Given the description of an element on the screen output the (x, y) to click on. 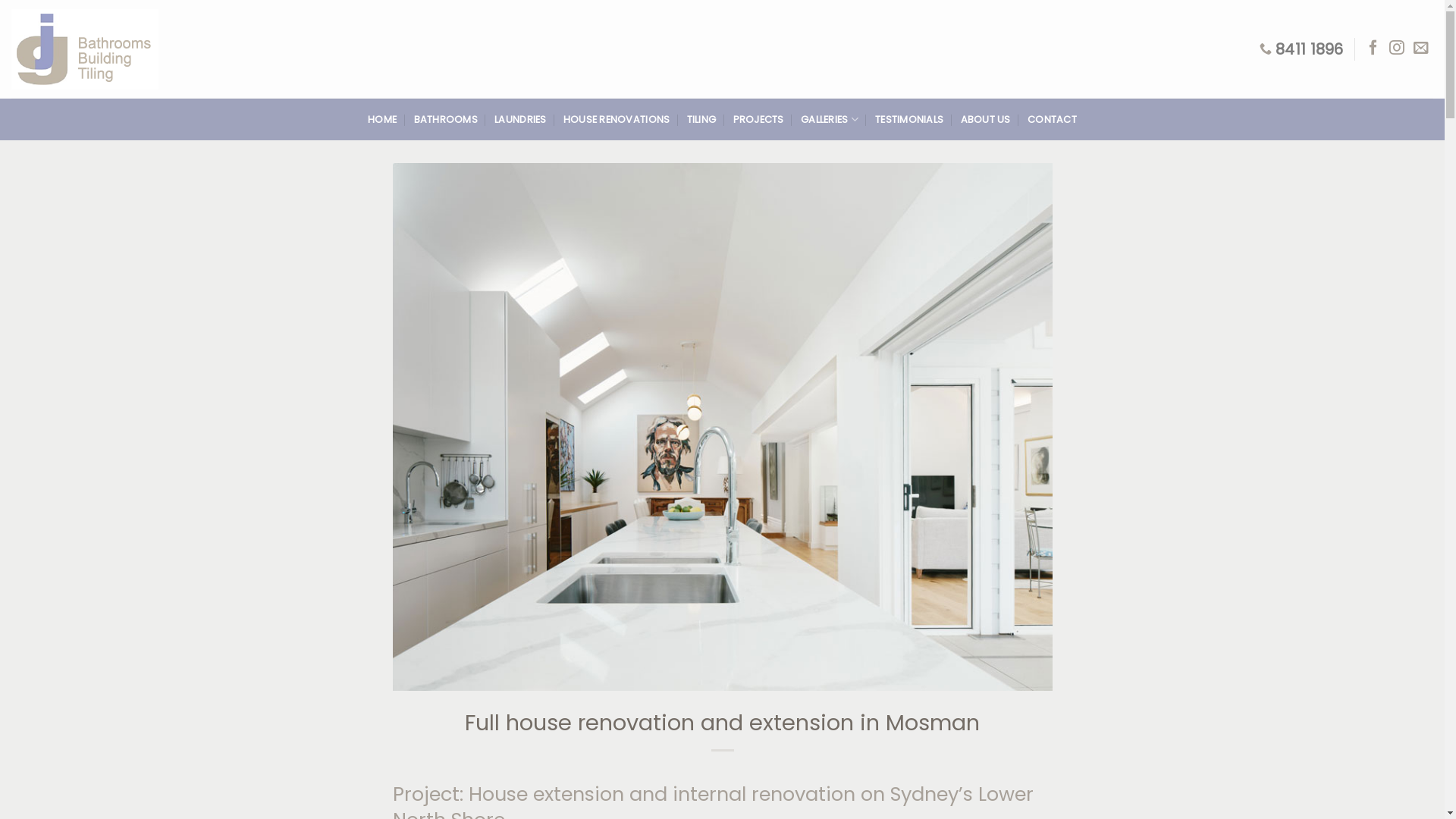
ABOUT US Element type: text (985, 119)
LAUNDRIES Element type: text (520, 119)
TILING Element type: text (701, 119)
TESTIMONIALS Element type: text (909, 119)
BATHROOMS Element type: text (445, 119)
HOME Element type: text (381, 119)
Follow on Instagram Element type: hover (1396, 48)
PROJECTS Element type: text (758, 119)
HOUSE RENOVATIONS Element type: text (616, 119)
8411 1896 Element type: text (1301, 48)
Send us an email Element type: hover (1420, 48)
GALLERIES Element type: text (829, 119)
Follow on Facebook Element type: hover (1372, 48)
CONTACT Element type: text (1051, 119)
